Given the description of an element on the screen output the (x, y) to click on. 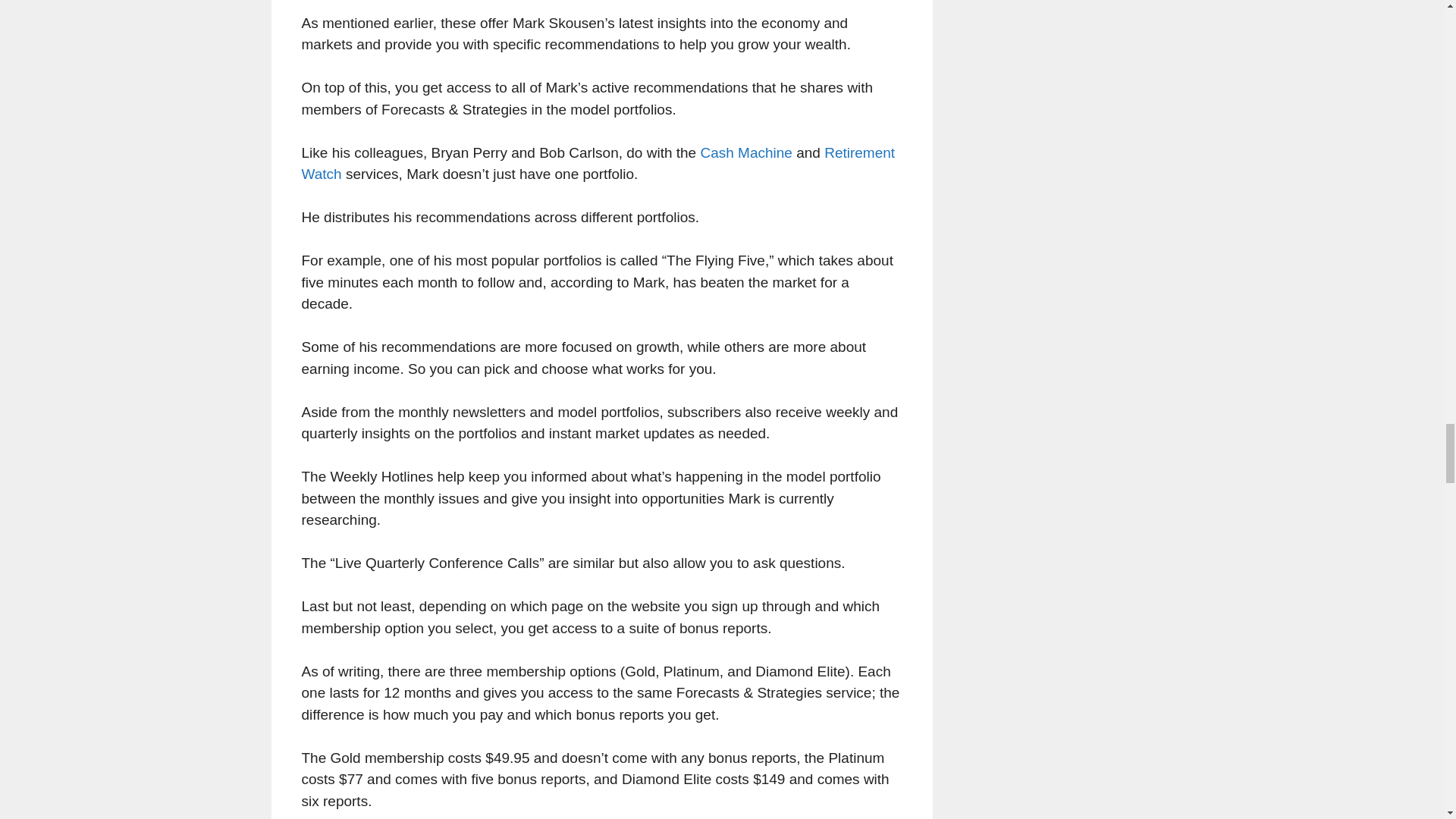
Retirement Watch (598, 163)
Cash Machine (746, 152)
